Given the description of an element on the screen output the (x, y) to click on. 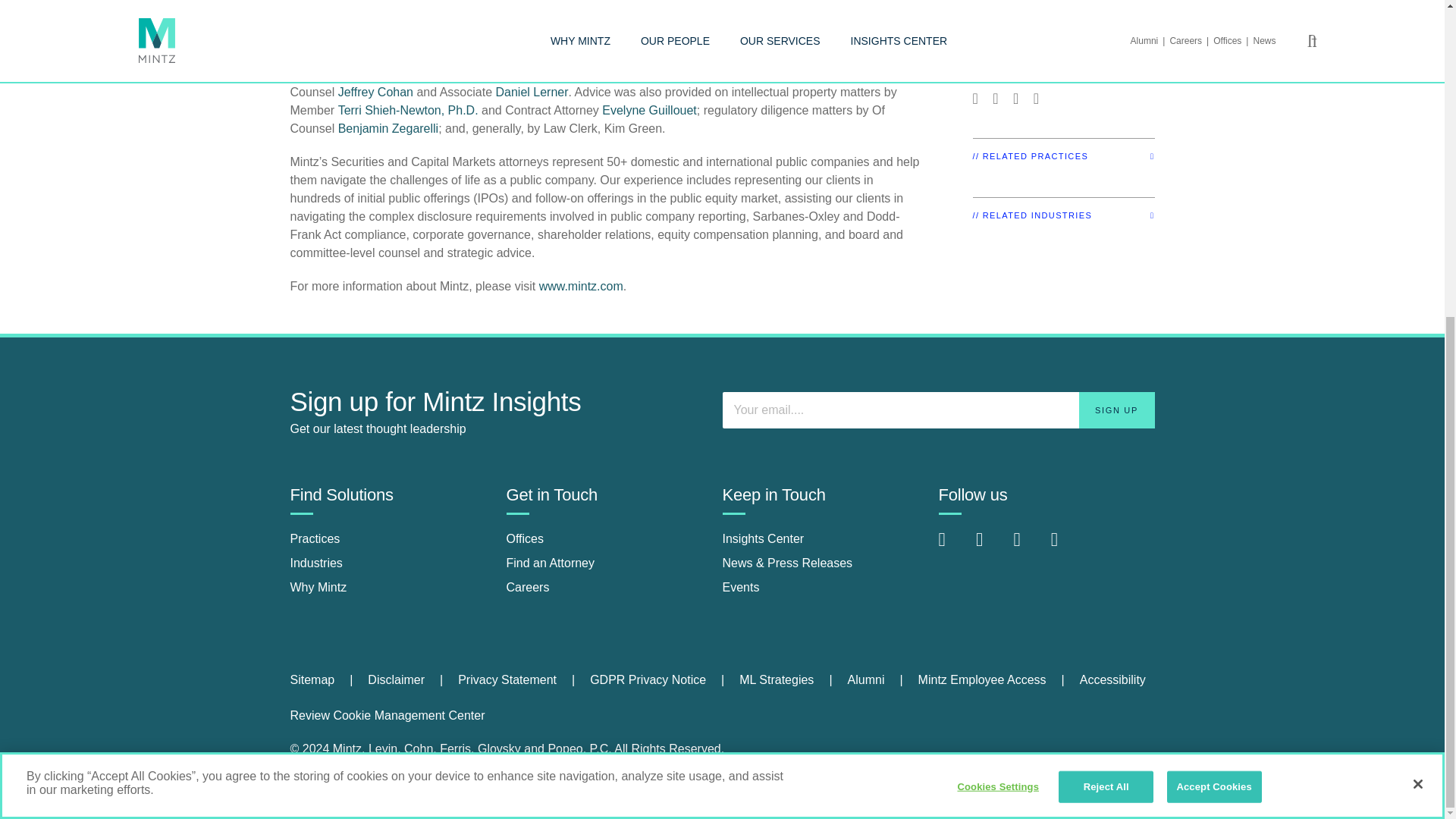
LinkedIn (954, 546)
Michael Maline (772, 73)
Terri Shieh-Newton, Ph.D. (408, 110)
Sign Up (1116, 410)
Jeffrey Cohan (375, 91)
Facebook (990, 546)
X (1028, 546)
Evelyne Guillouet (649, 110)
Daniel Lerner (532, 91)
Benjamin Zegarelli (388, 128)
www.mintz.com (580, 286)
